Given the description of an element on the screen output the (x, y) to click on. 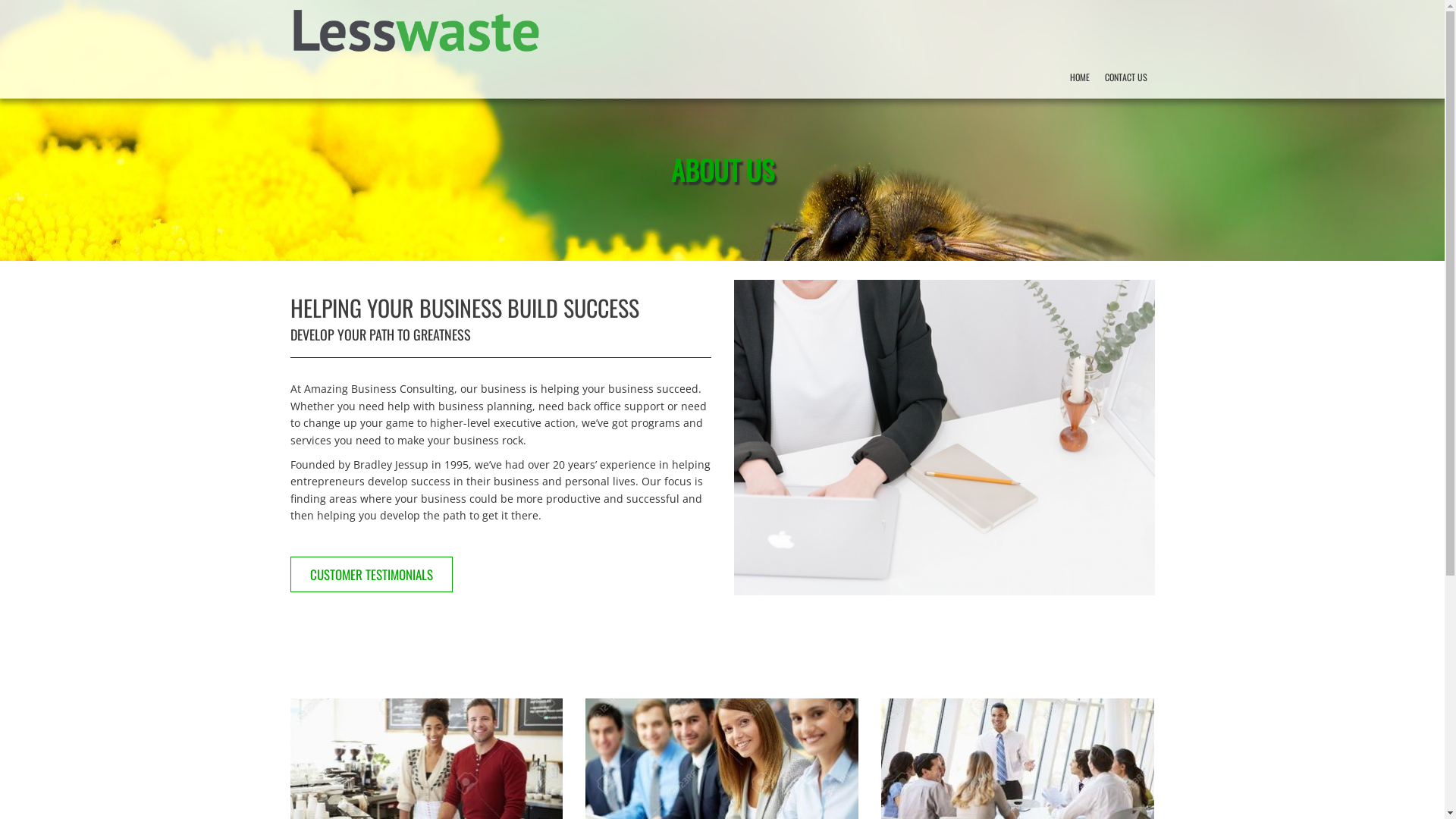
CONTACT US Element type: text (1125, 77)
ABOUT US Element type: text (721, 182)
CUSTOMER TESTIMONIALS Element type: text (370, 574)
HOME Element type: text (1078, 77)
